Given the description of an element on the screen output the (x, y) to click on. 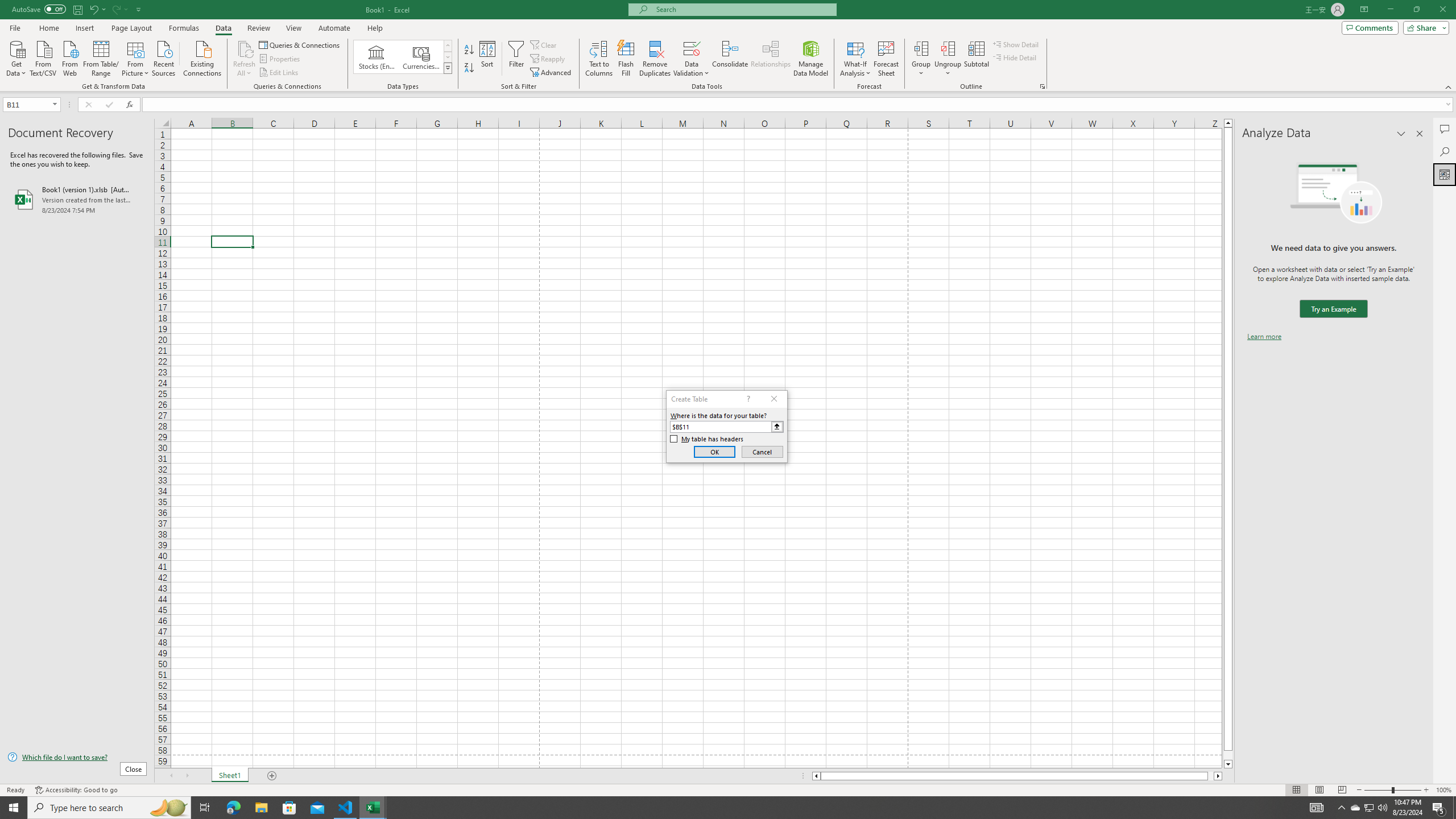
Edit Links (279, 72)
Add Sheet (272, 775)
Column left (815, 775)
Class: MsoCommandBar (728, 45)
Normal (1296, 790)
Remove Duplicates (654, 58)
Hide Detail (1014, 56)
Line down (1228, 764)
Forecast Sheet (885, 58)
Group... (921, 48)
AutoSave (38, 9)
We need data to give you answers. Try an Example (1333, 308)
Page Layout (1318, 790)
Text to Columns... (598, 58)
